Given the description of an element on the screen output the (x, y) to click on. 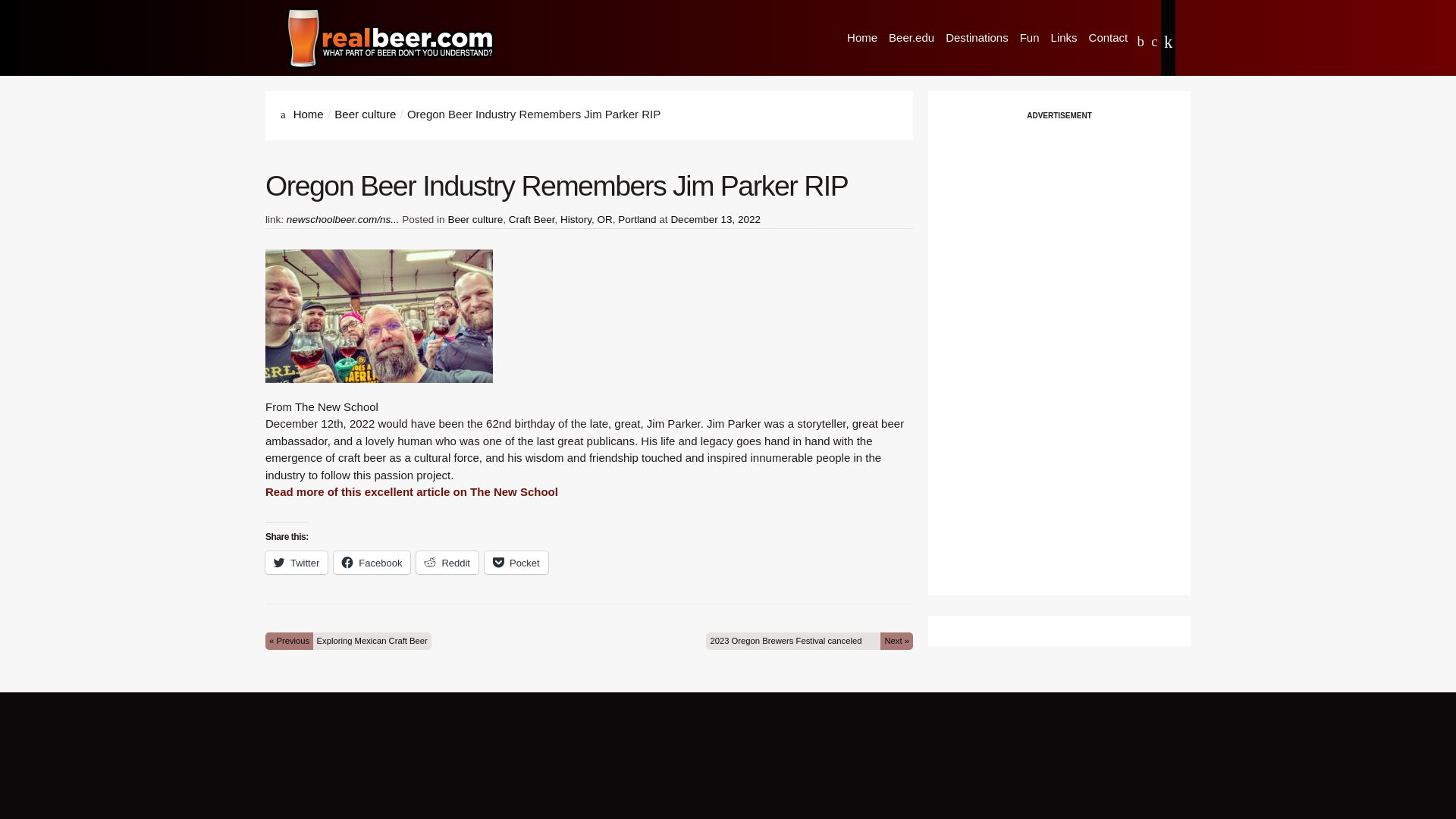
Twitter (295, 562)
December 13, 2022 (714, 219)
Pocket (516, 562)
OR (604, 219)
Craft Beer (531, 219)
Destinations (977, 38)
Facebook (371, 562)
History (575, 219)
Click to share on Pocket (516, 562)
Click to share on Facebook (371, 562)
